Given the description of an element on the screen output the (x, y) to click on. 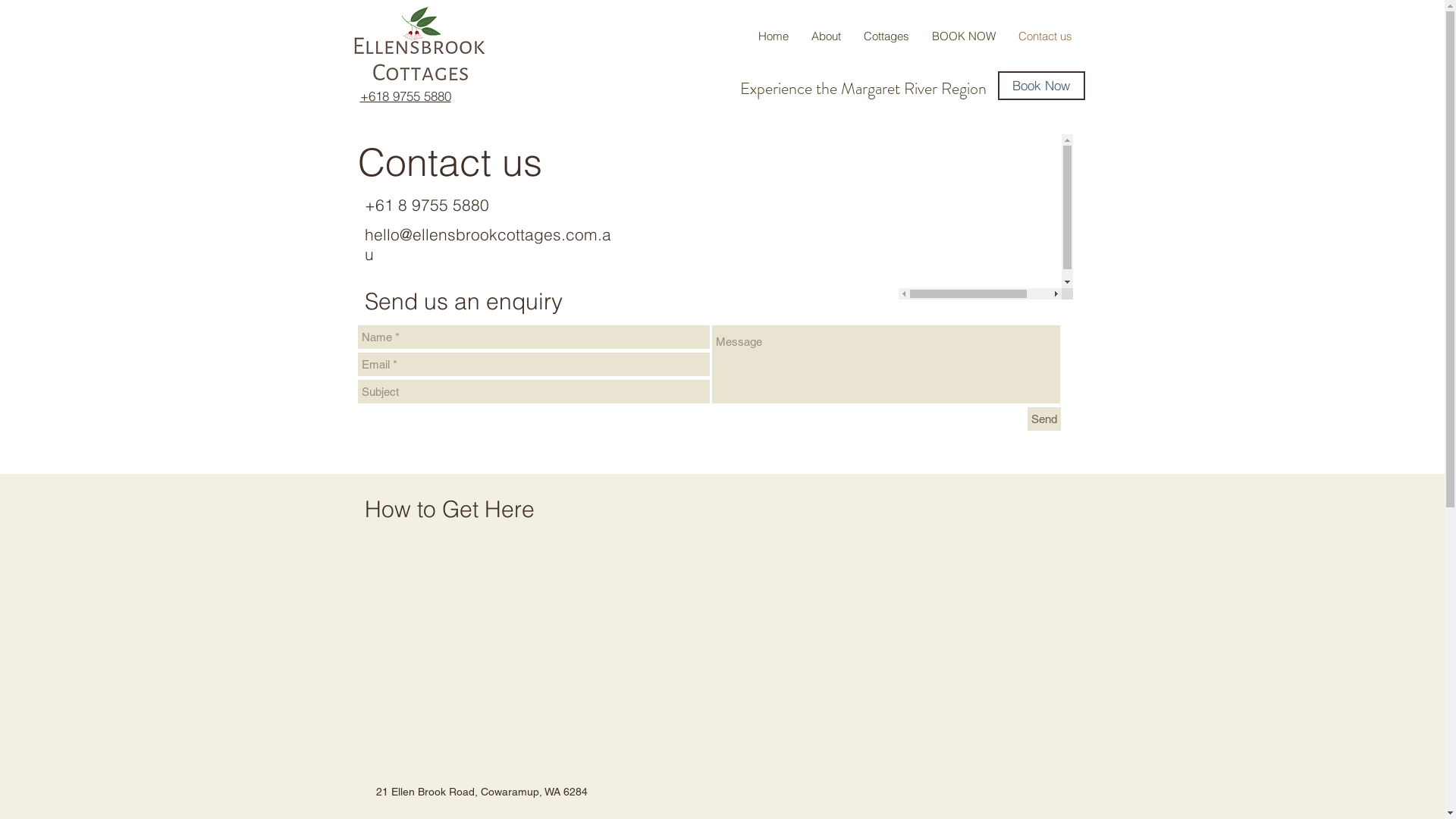
About Element type: text (825, 36)
Embedded Content Element type: hover (984, 216)
+618 9755 5880 Element type: text (404, 95)
+61 8 9755 5880 Element type: text (426, 204)
hello@ellensbrookcottages.com.au Element type: text (487, 243)
BOOK NOW Element type: text (963, 36)
Cottages Element type: text (886, 36)
Book Now Element type: text (1041, 85)
Contact us Element type: text (1045, 36)
Send Element type: text (1043, 418)
Home Element type: text (772, 36)
Google Maps Element type: hover (705, 653)
